Given the description of an element on the screen output the (x, y) to click on. 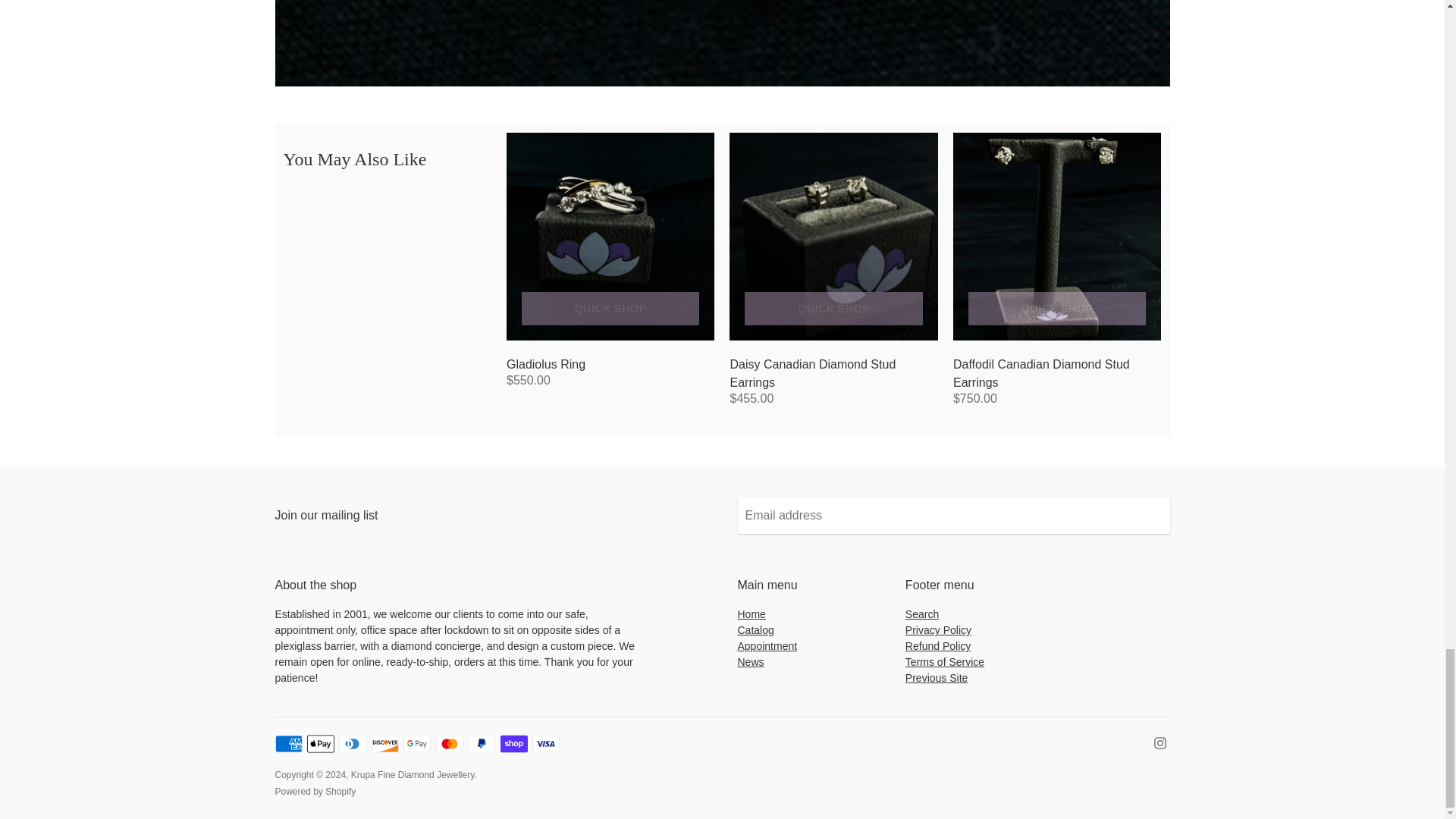
Mastercard (449, 743)
Krupa Fine Diamond Jewellery on Instagram (1160, 741)
Apple Pay (320, 743)
Shop Pay (513, 743)
American Express (288, 743)
Google Pay (416, 743)
PayPal (481, 743)
Discover (384, 743)
Visa (545, 743)
Diners Club (352, 743)
